Given the description of an element on the screen output the (x, y) to click on. 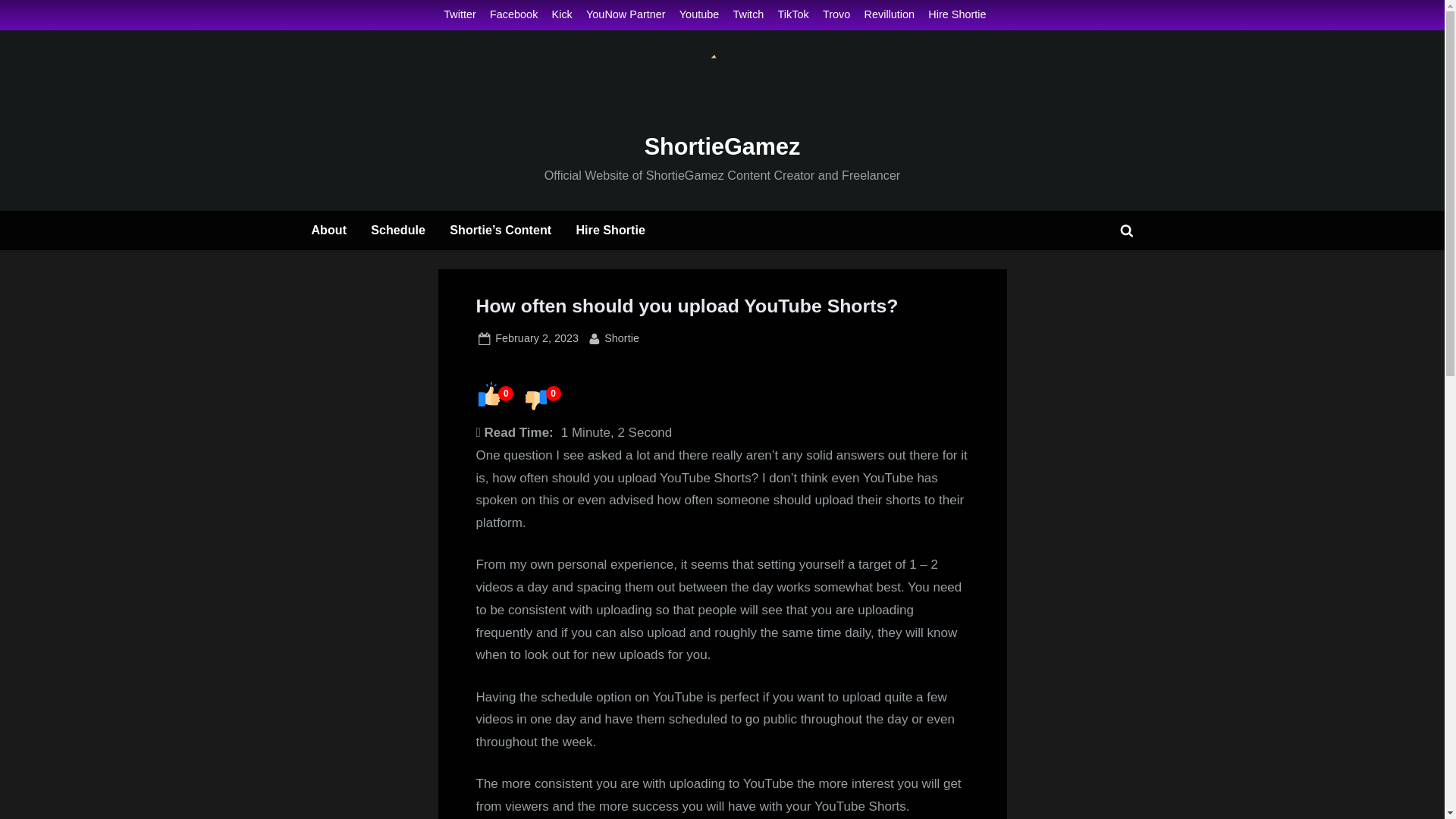
Facebook (513, 15)
Kick (536, 338)
Toggle search form (621, 338)
Revillution (561, 15)
Twitter (1126, 230)
Hire Shortie (889, 15)
Schedule (460, 15)
YouNow Partner (610, 230)
